Given the description of an element on the screen output the (x, y) to click on. 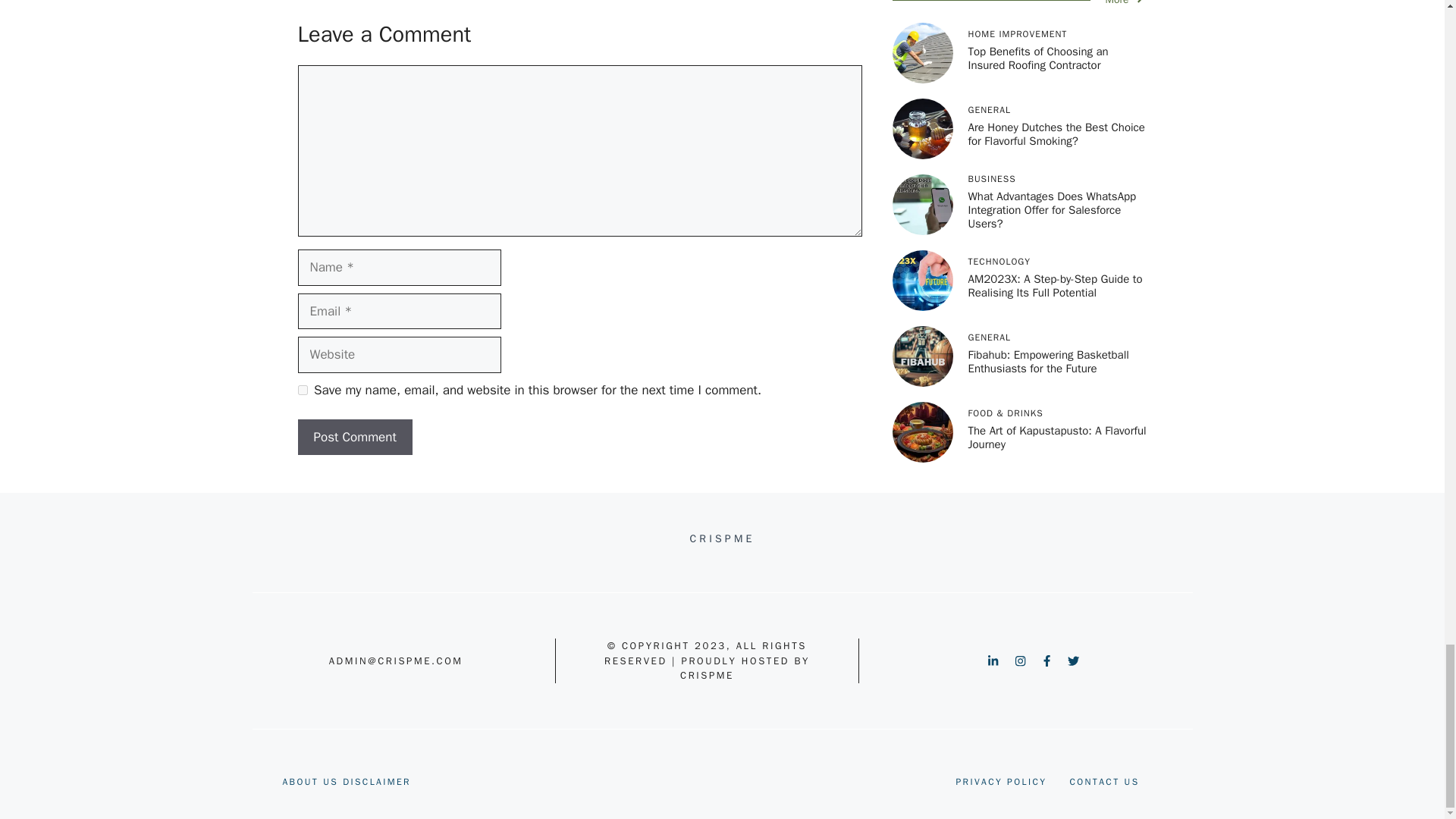
yes (302, 389)
Post Comment (354, 437)
Post Comment (354, 437)
